Given the description of an element on the screen output the (x, y) to click on. 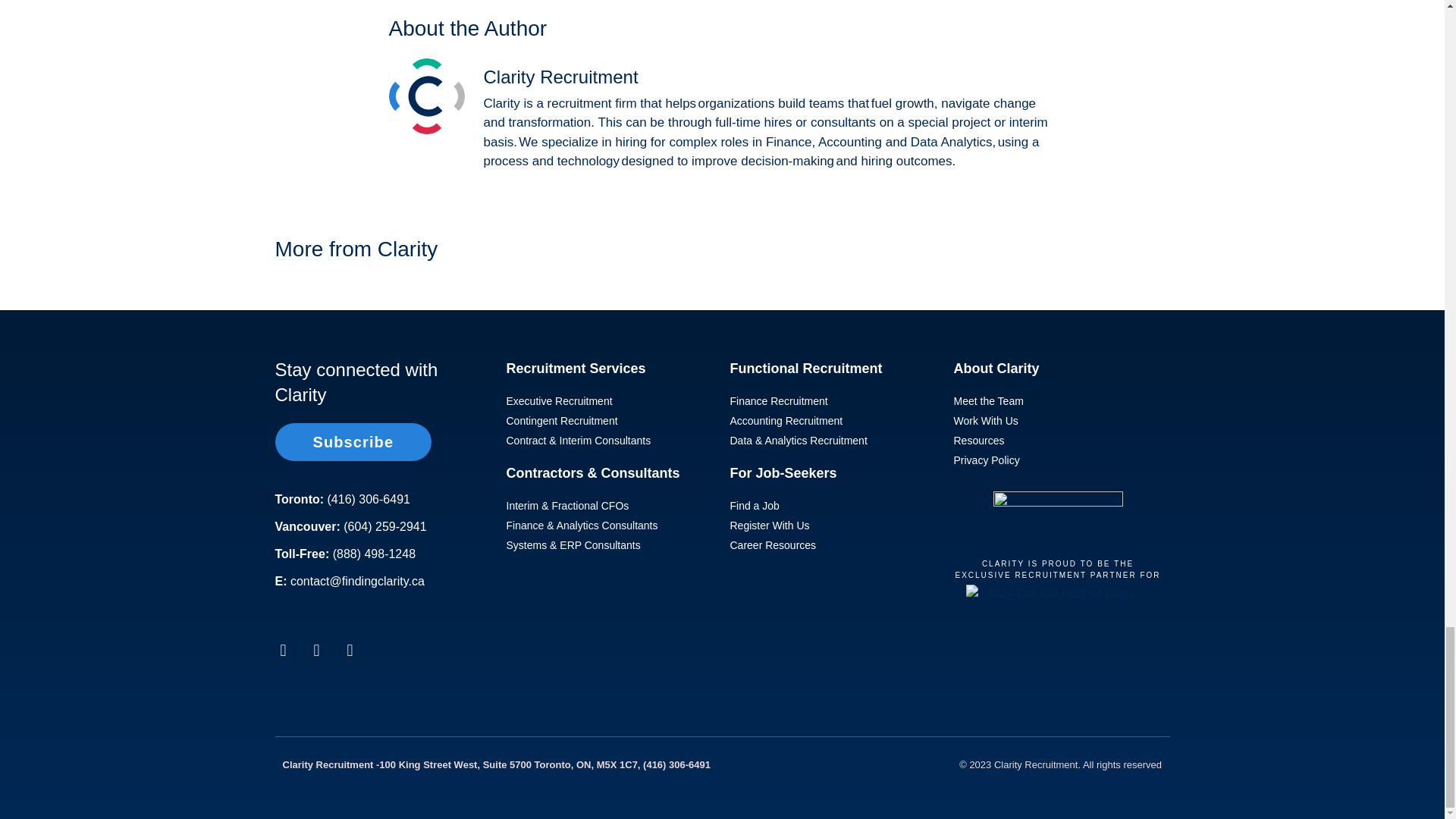
Subscribe (352, 442)
Executive Recruitment (610, 401)
Contingent Recruitment (610, 421)
